Given the description of an element on the screen output the (x, y) to click on. 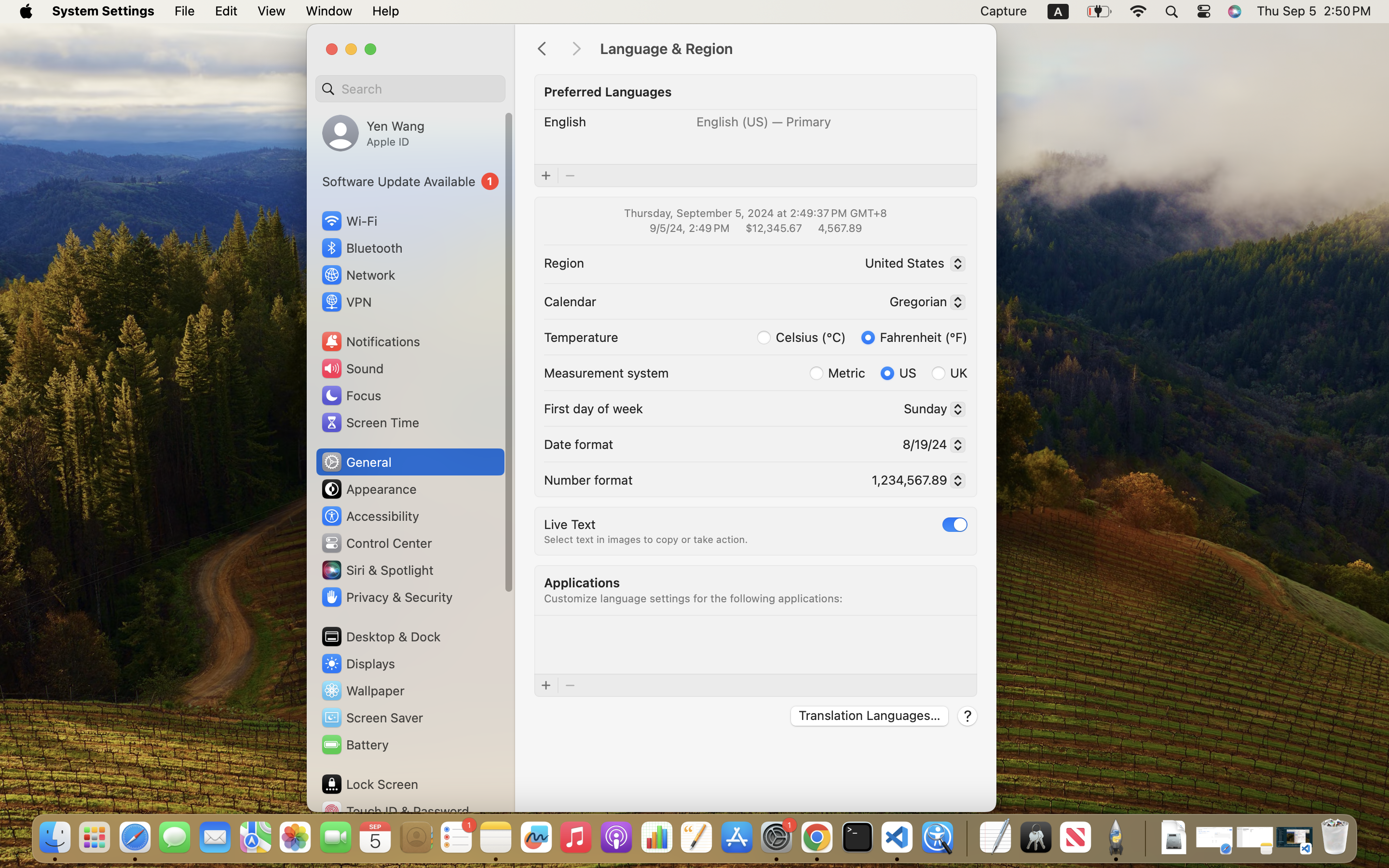
Accessibility Element type: AXStaticText (369, 515)
Live Text Element type: AXStaticText (569, 523)
Focus Element type: AXStaticText (350, 394)
Select text in images to copy or take action. Element type: AXStaticText (646, 539)
English Element type: AXStaticText (565, 121)
